Given the description of an element on the screen output the (x, y) to click on. 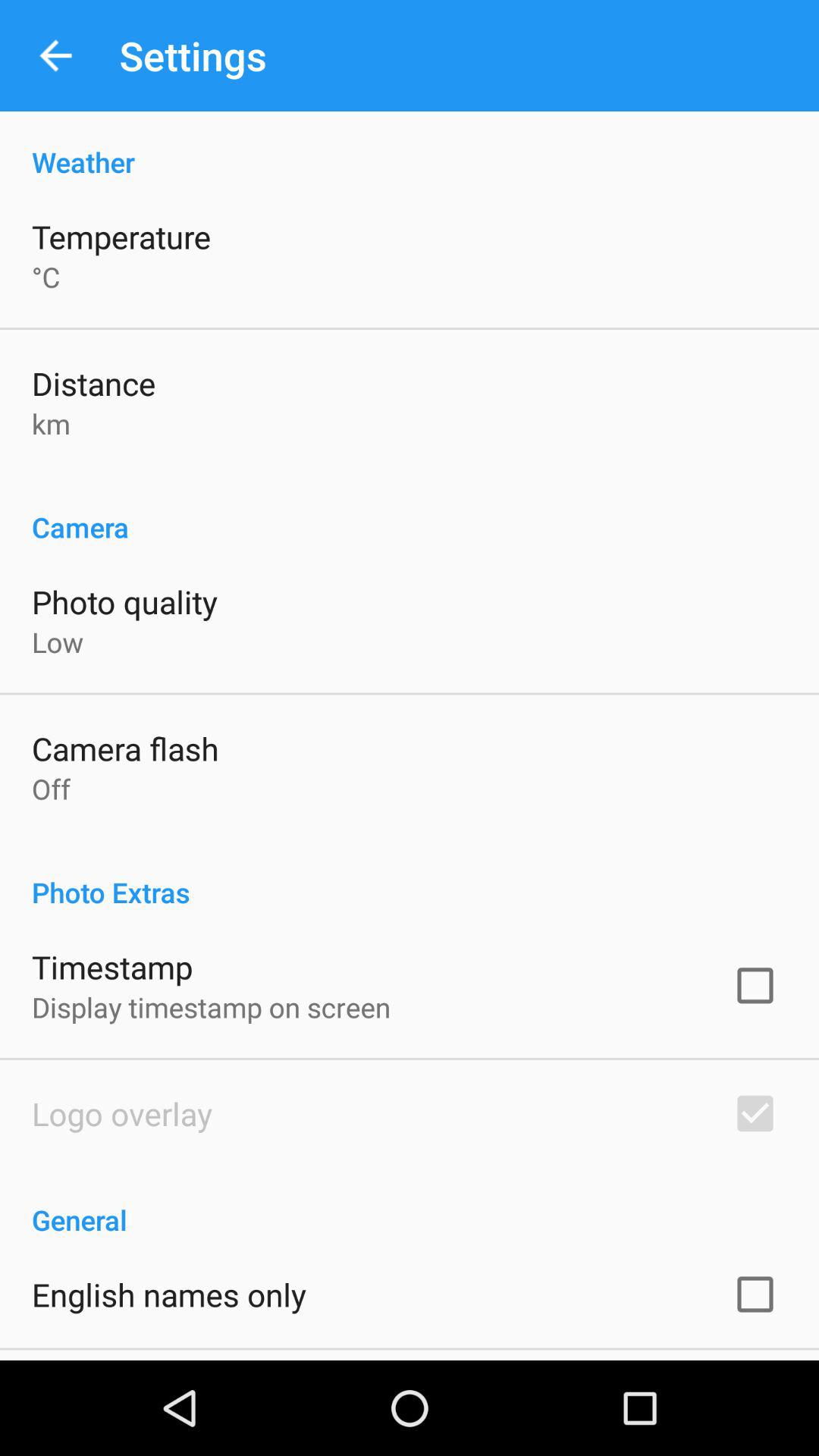
select the icon above the camera flash (57, 641)
